Given the description of an element on the screen output the (x, y) to click on. 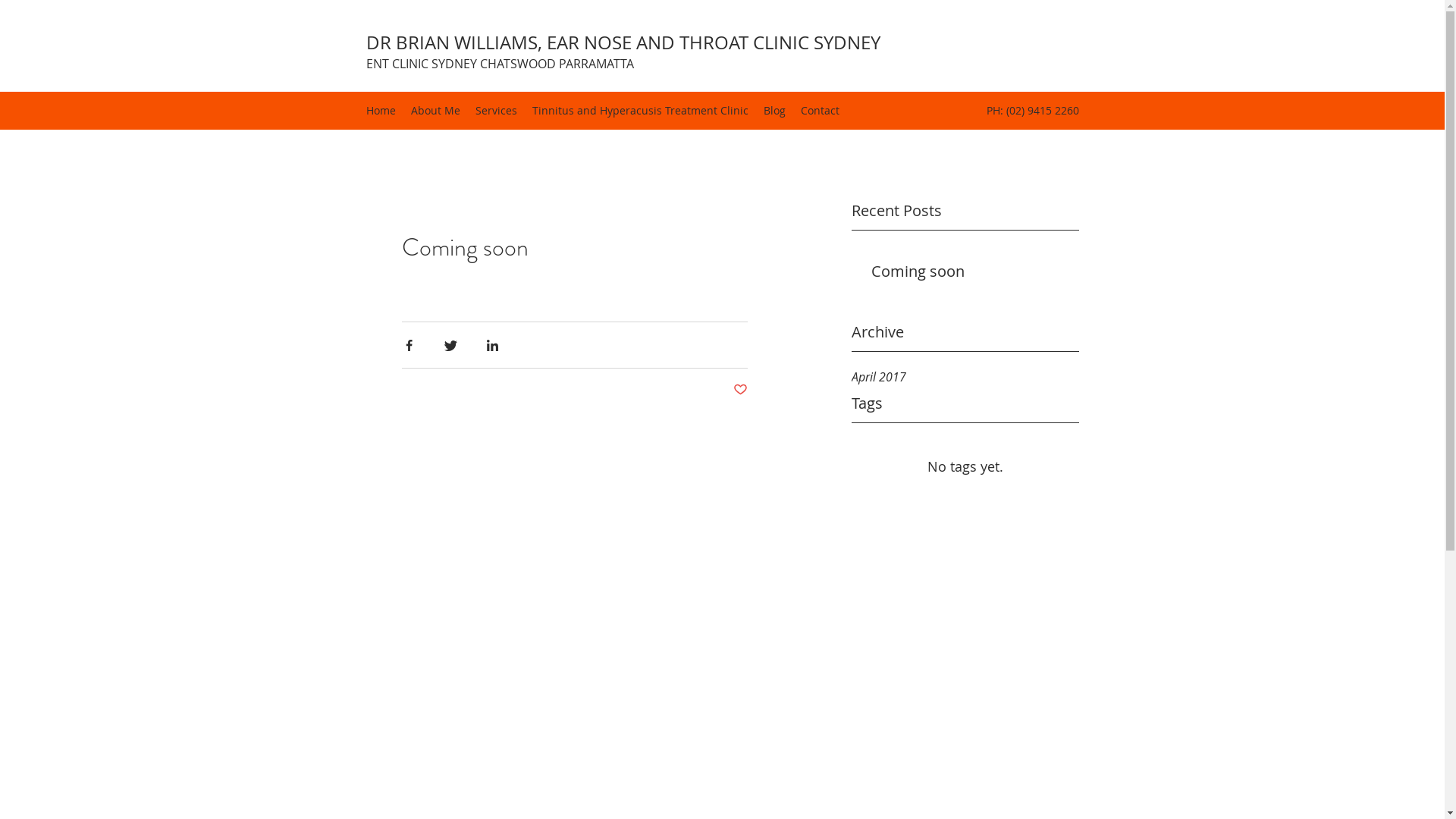
Blog Element type: text (773, 110)
Post not marked as liked Element type: text (739, 390)
Contact Element type: text (820, 110)
Services Element type: text (495, 110)
April 2017 Element type: text (964, 376)
Home Element type: text (379, 110)
About Me Element type: text (435, 110)
Tinnitus and Hyperacusis Treatment Clinic Element type: text (640, 110)
Coming soon Element type: text (969, 274)
